Given the description of an element on the screen output the (x, y) to click on. 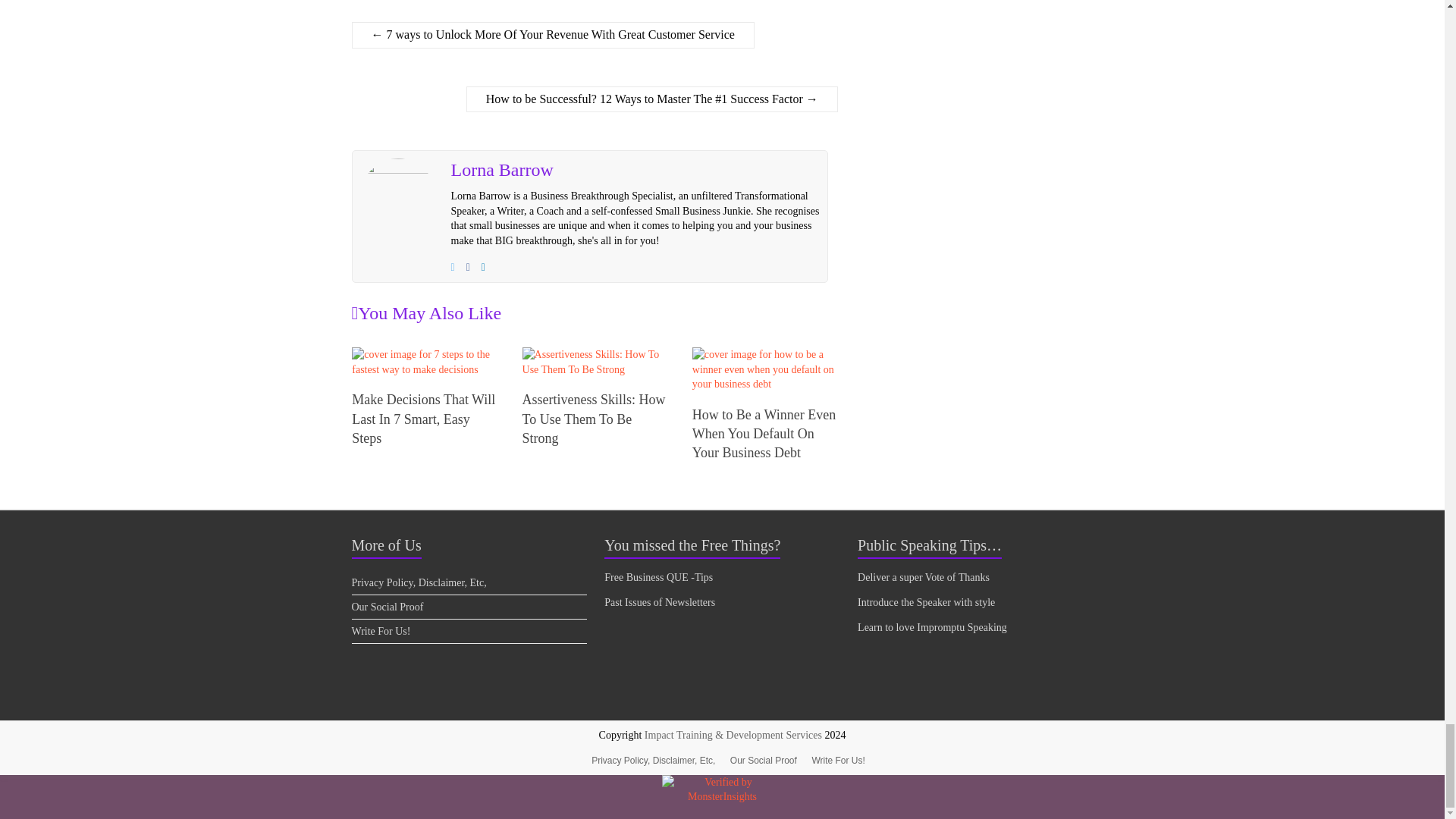
Make Decisions That Will Last In 7 Smart, Easy Steps (423, 418)
Verified by MonsterInsights (722, 789)
Make Decisions That Will Last In 7 Smart, Easy Steps (424, 361)
Assertiveness Skills: How To Use Them To Be Strong (594, 361)
Assertiveness Skills: How To Use Them To Be Strong (593, 418)
Make Decisions That Will Last In 7 Smart, Easy Steps (424, 354)
Assertiveness Skills: How To Use Them To Be Strong (594, 354)
